Given the description of an element on the screen output the (x, y) to click on. 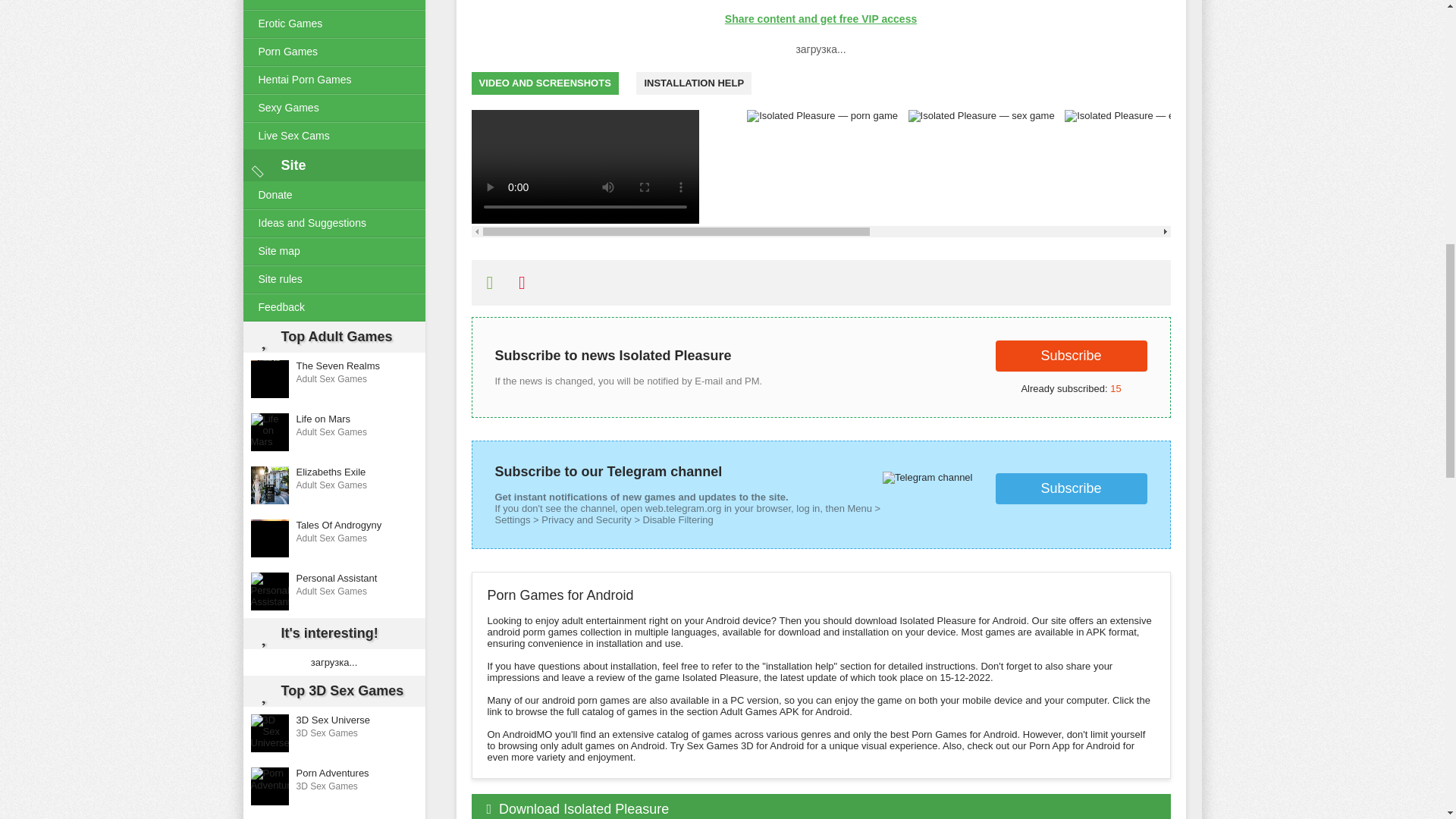
Isolated Pleasure 1 (584, 166)
